Given the description of an element on the screen output the (x, y) to click on. 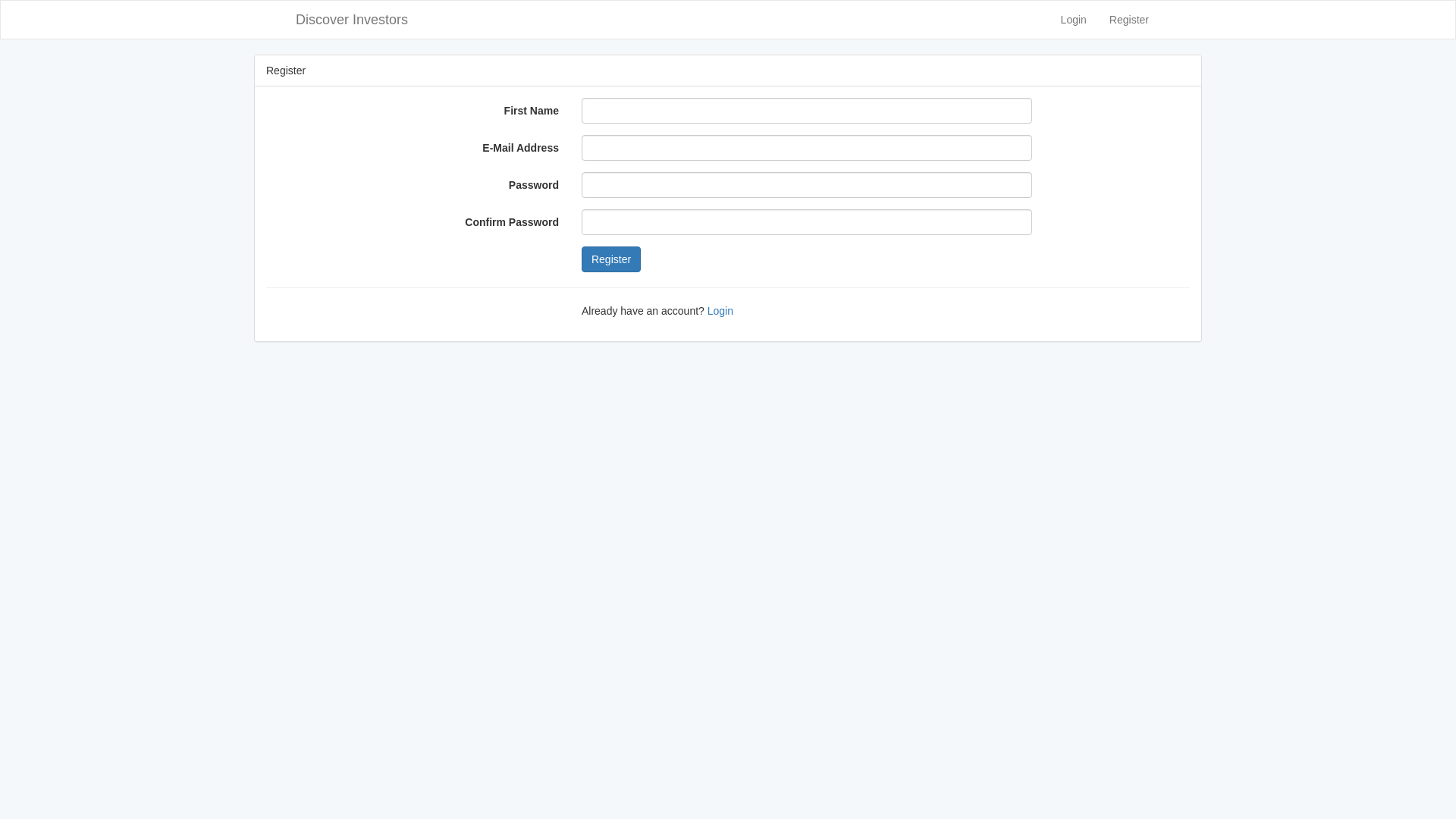
Register Element type: text (610, 259)
Register Element type: text (1129, 19)
Login Element type: text (1073, 19)
Login Element type: text (720, 310)
Discover Investors Element type: text (351, 19)
